Given the description of an element on the screen output the (x, y) to click on. 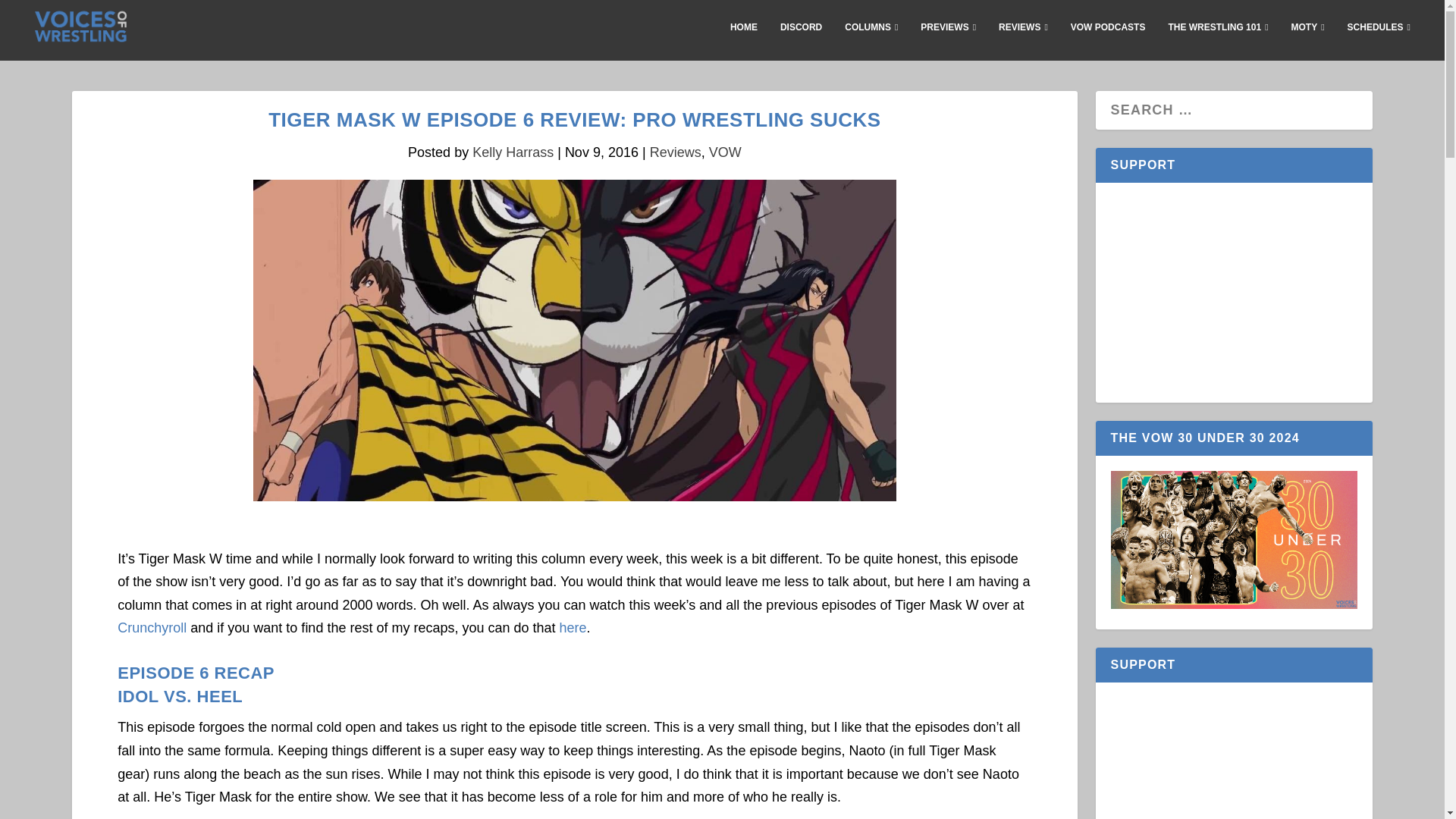
DISCORD (801, 39)
VOW PODCASTS (1107, 39)
REVIEWS (1023, 39)
PREVIEWS (947, 39)
COLUMNS (871, 39)
THE WRESTLING 101 (1217, 39)
Posts by Kelly Harrass (512, 151)
